Given the description of an element on the screen output the (x, y) to click on. 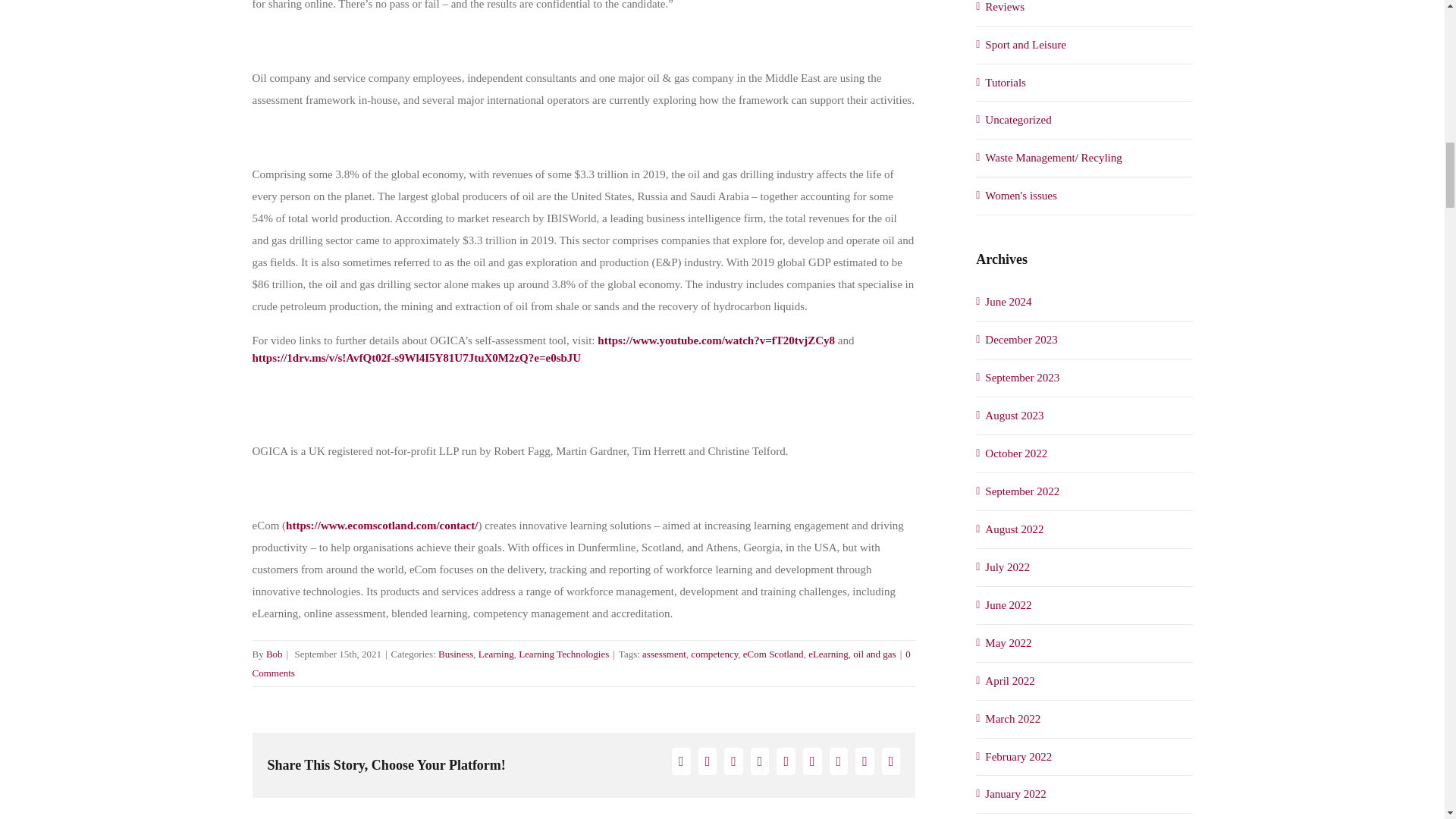
Products Reviews (1085, 9)
eCom Scotland (772, 654)
Business (455, 654)
eLearning (828, 654)
Bob (274, 654)
assessment (663, 654)
Learning (496, 654)
Posts by Bob (274, 654)
competency (714, 654)
Learning Technologies (563, 654)
